Given the description of an element on the screen output the (x, y) to click on. 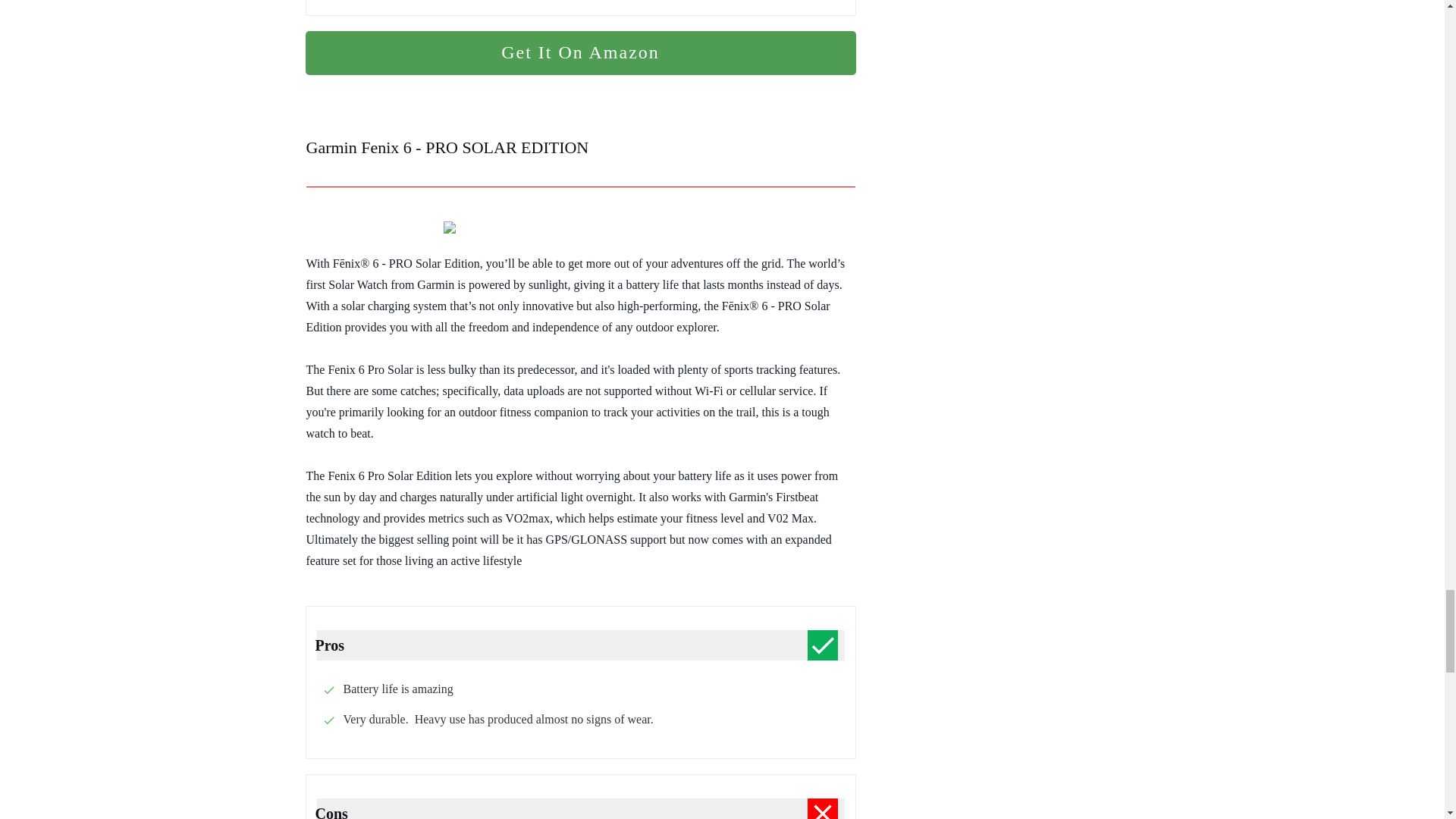
Get It On Amazon (580, 53)
